Given the description of an element on the screen output the (x, y) to click on. 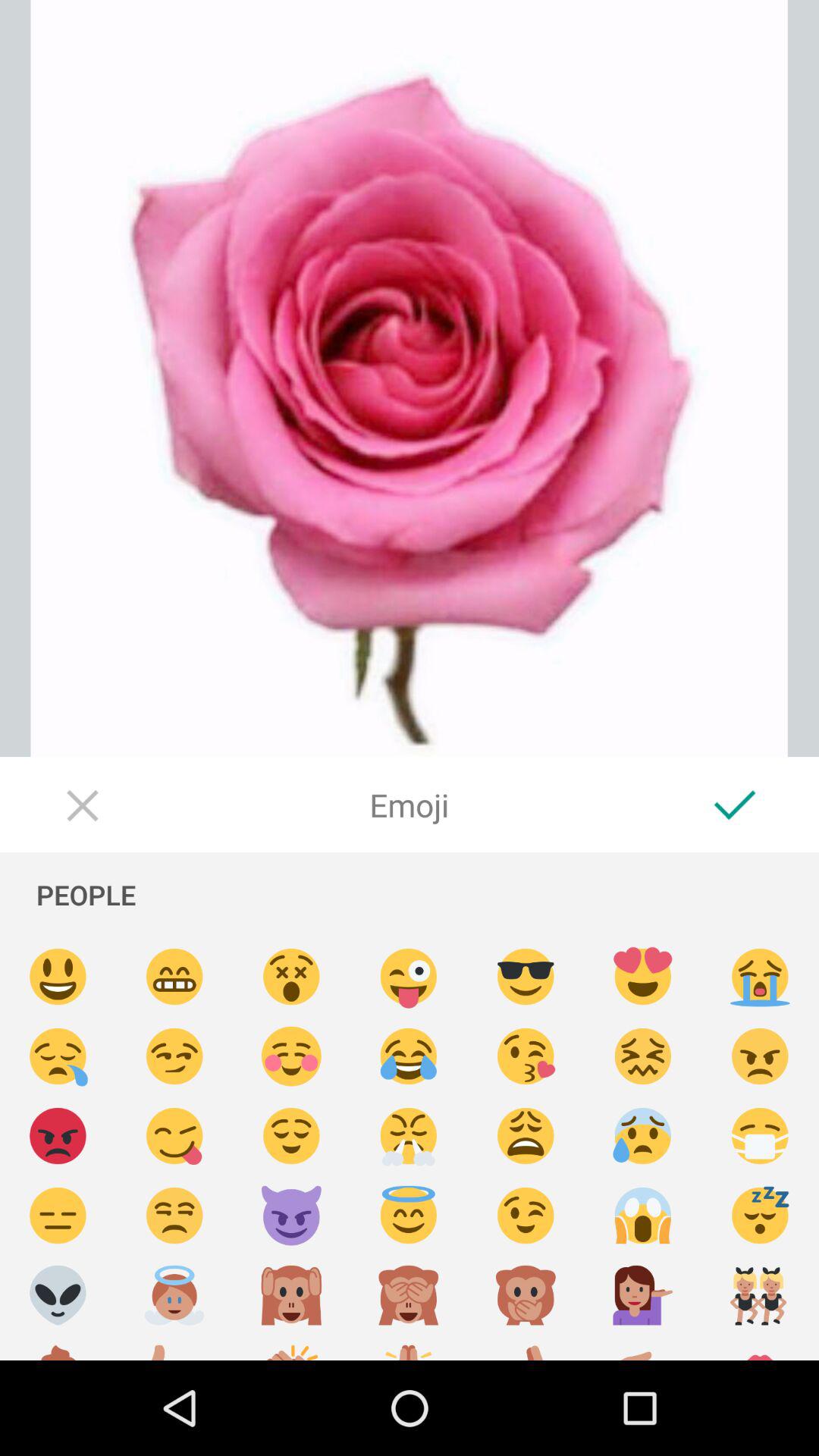
emoji (291, 1056)
